Given the description of an element on the screen output the (x, y) to click on. 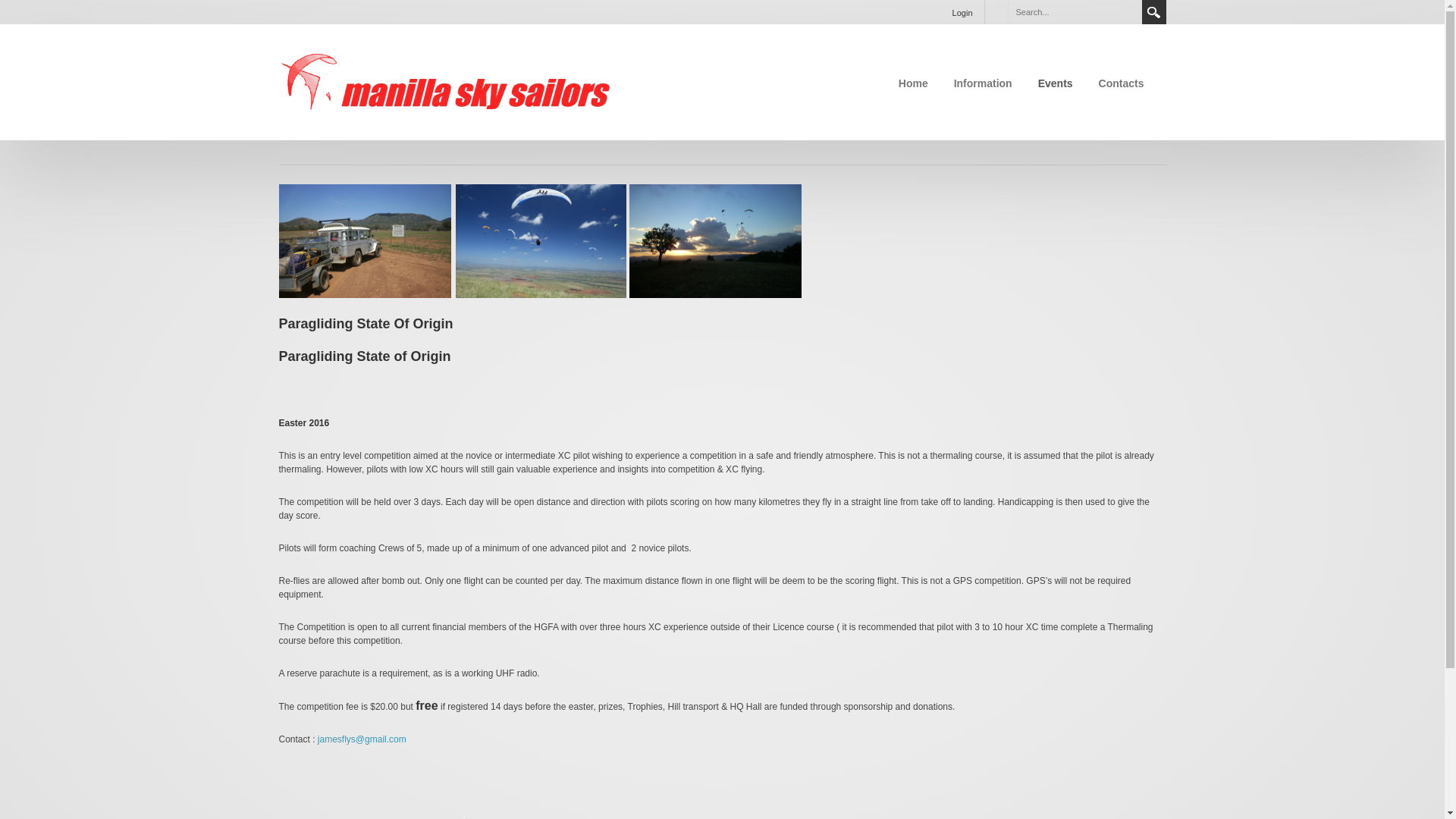
Login Element type: text (962, 12)
Events Element type: text (1055, 83)
Search Element type: text (1154, 12)
Contacts Element type: text (1121, 83)
Information Element type: text (982, 83)
Manilla Sky Sailors Element type: hover (445, 80)
Clear search text Element type: hover (1126, 11)
jamesflys@gmail.com Element type: text (361, 739)
Home Element type: text (913, 83)
